Given the description of an element on the screen output the (x, y) to click on. 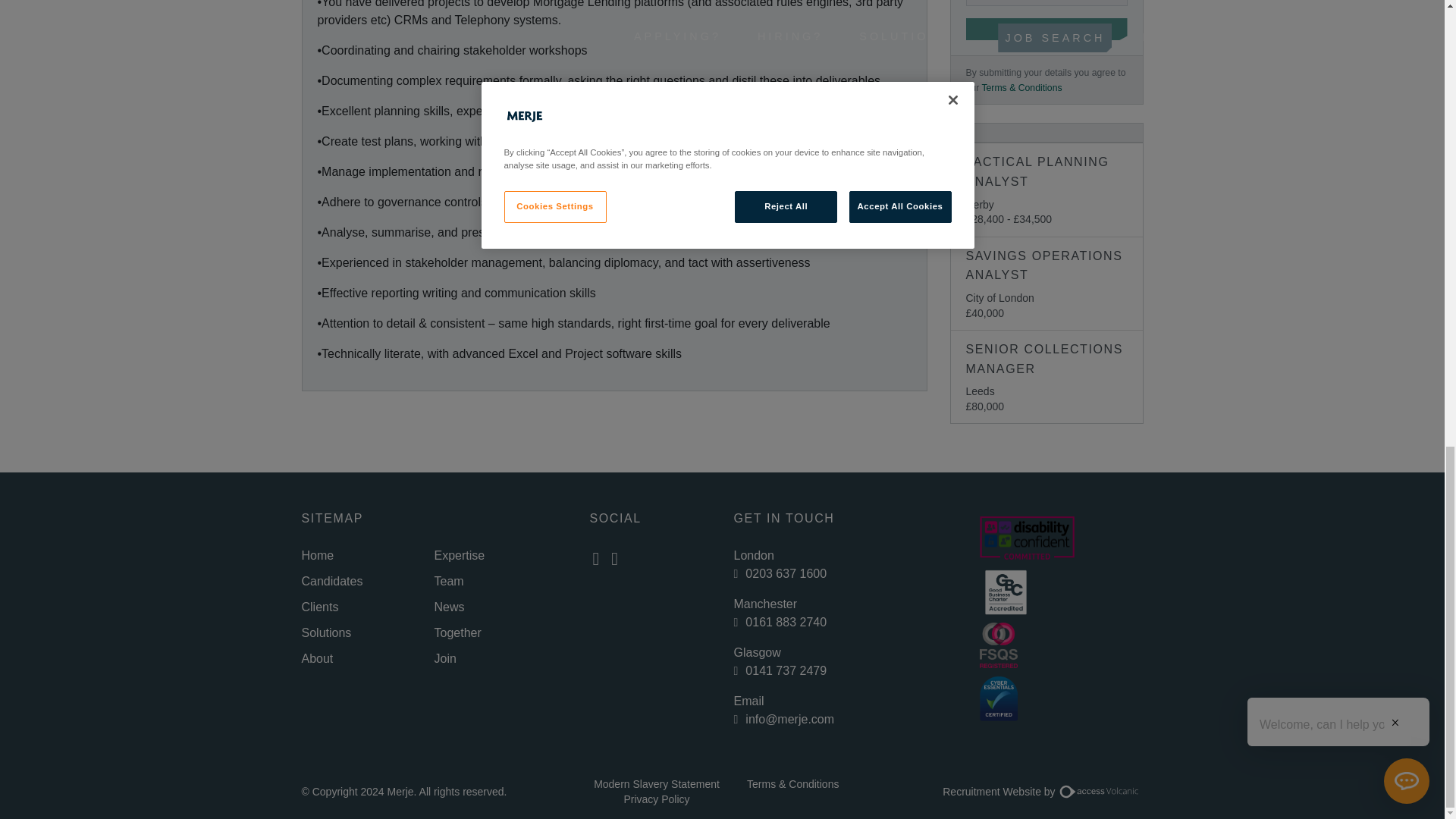
CREATE ALERT (1046, 29)
